Given the description of an element on the screen output the (x, y) to click on. 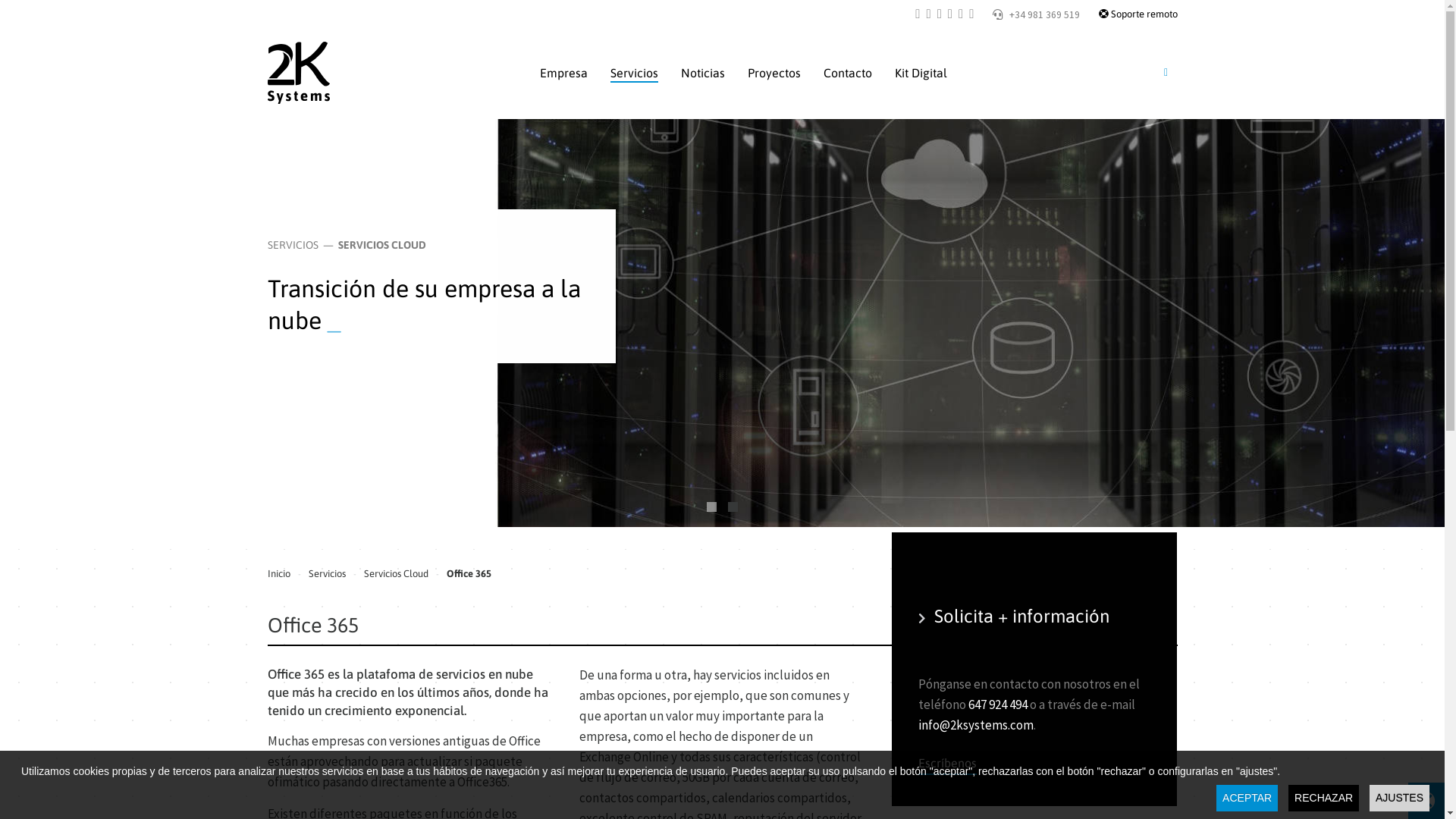
Servicios Element type: text (326, 573)
Kit Digital Element type: text (920, 72)
+34 981 369 519 Element type: text (1035, 14)
info@2ksystems.com Element type: text (975, 724)
Aceptar todas las cookies Element type: text (549, 597)
AJUSTES Element type: text (1399, 797)
Inicio Element type: text (277, 573)
Servicios Cloud Element type: text (396, 573)
RECHAZAR Element type: text (1323, 797)
647 924 494 Element type: text (997, 704)
Contacto Element type: text (847, 72)
1 Element type: text (673, 238)
Soporte remoto Element type: text (1137, 14)
Infraestructura IT Element type: text (732, 506)
Noticias Element type: text (702, 72)
Servicios Element type: text (633, 72)
Empresa Element type: text (563, 72)
ACEPTAR Element type: text (1246, 797)
Infraestructura IT Element type: text (711, 506)
Rechazar todas las cookiess Element type: text (728, 597)
Proyectos Element type: text (773, 72)
